Given the description of an element on the screen output the (x, y) to click on. 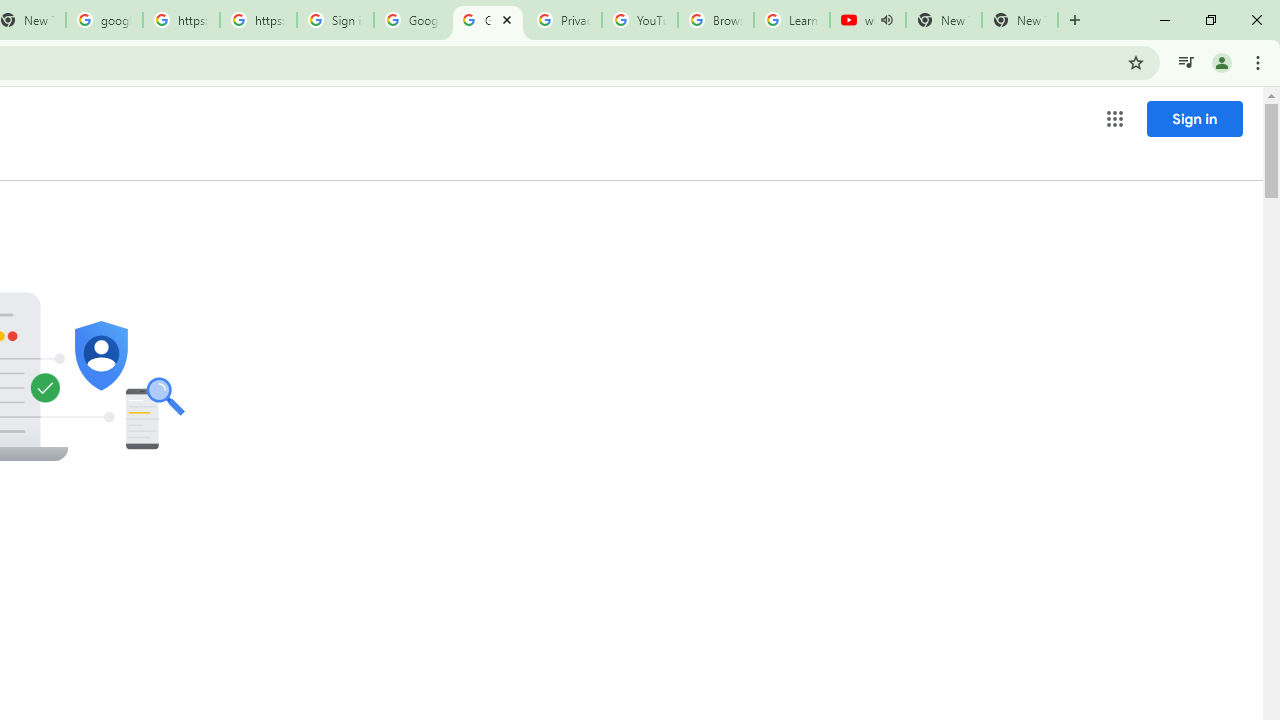
https://scholar.google.com/ (181, 20)
New Tab (1019, 20)
YouTube (639, 20)
